Given the description of an element on the screen output the (x, y) to click on. 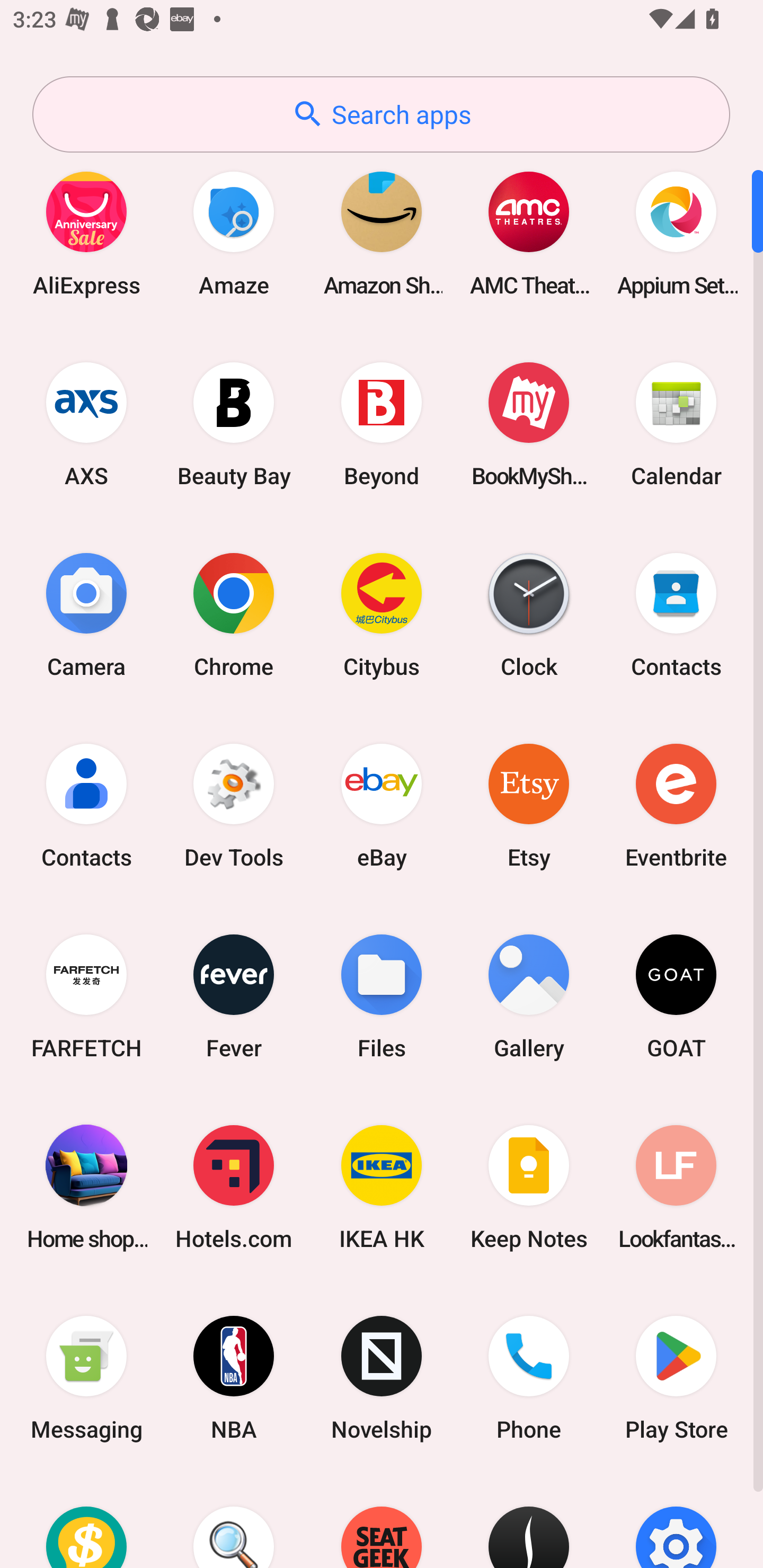
  Search apps (381, 114)
AliExpress (86, 233)
Amaze (233, 233)
Amazon Shopping (381, 233)
AMC Theatres (528, 233)
Appium Settings (676, 233)
AXS (86, 424)
Beauty Bay (233, 424)
Beyond (381, 424)
BookMyShow (528, 424)
Calendar (676, 424)
Camera (86, 614)
Chrome (233, 614)
Citybus (381, 614)
Clock (528, 614)
Contacts (676, 614)
Contacts (86, 805)
Dev Tools (233, 805)
eBay (381, 805)
Etsy (528, 805)
Eventbrite (676, 805)
FARFETCH (86, 996)
Fever (233, 996)
Files (381, 996)
Gallery (528, 996)
GOAT (676, 996)
Home shopping (86, 1186)
Hotels.com (233, 1186)
IKEA HK (381, 1186)
Keep Notes (528, 1186)
Lookfantastic (676, 1186)
Messaging (86, 1377)
NBA (233, 1377)
Novelship (381, 1377)
Phone (528, 1377)
Play Store (676, 1377)
